Given the description of an element on the screen output the (x, y) to click on. 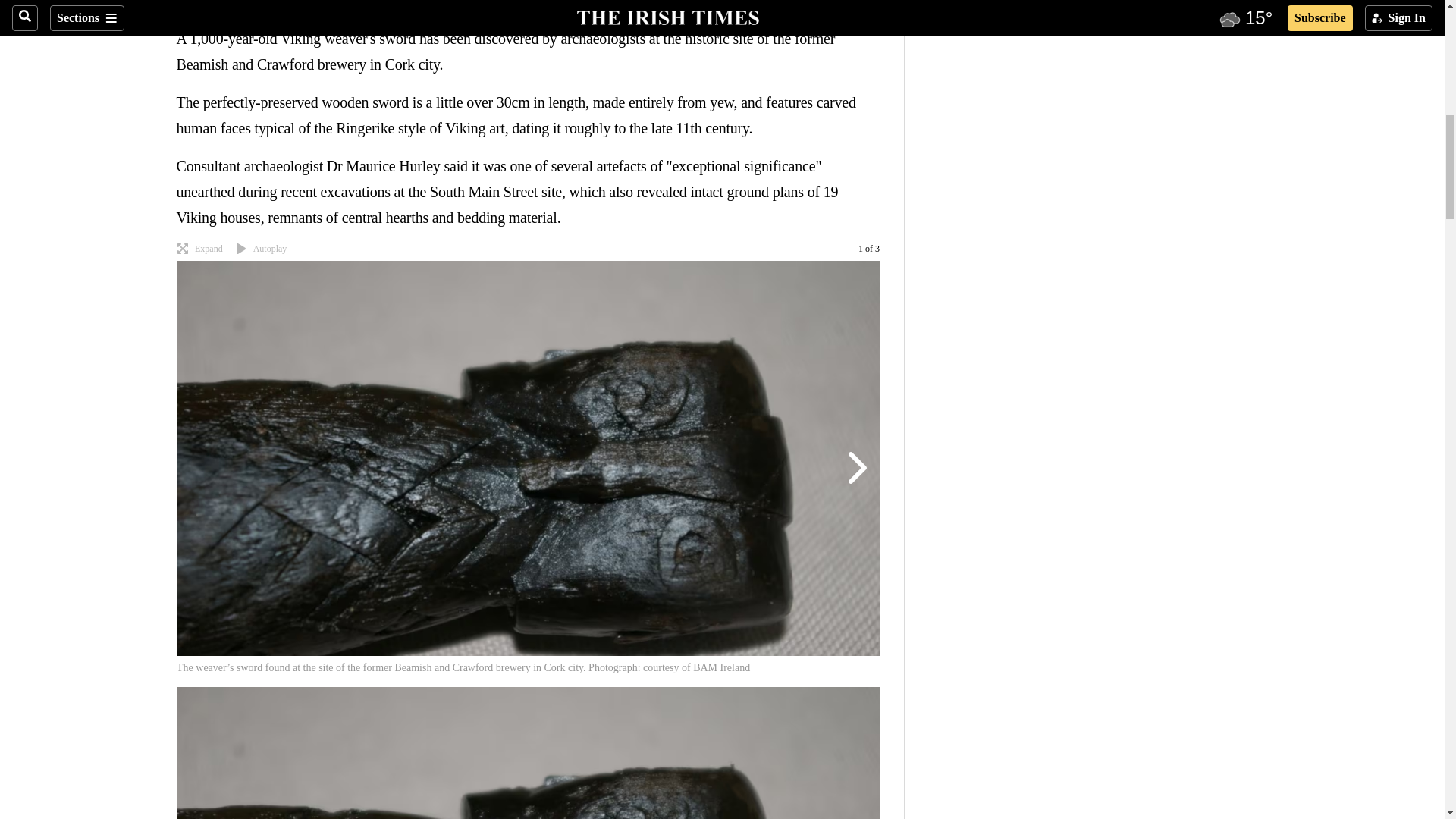
X (215, 6)
WhatsApp (244, 6)
Facebook (184, 6)
